Given the description of an element on the screen output the (x, y) to click on. 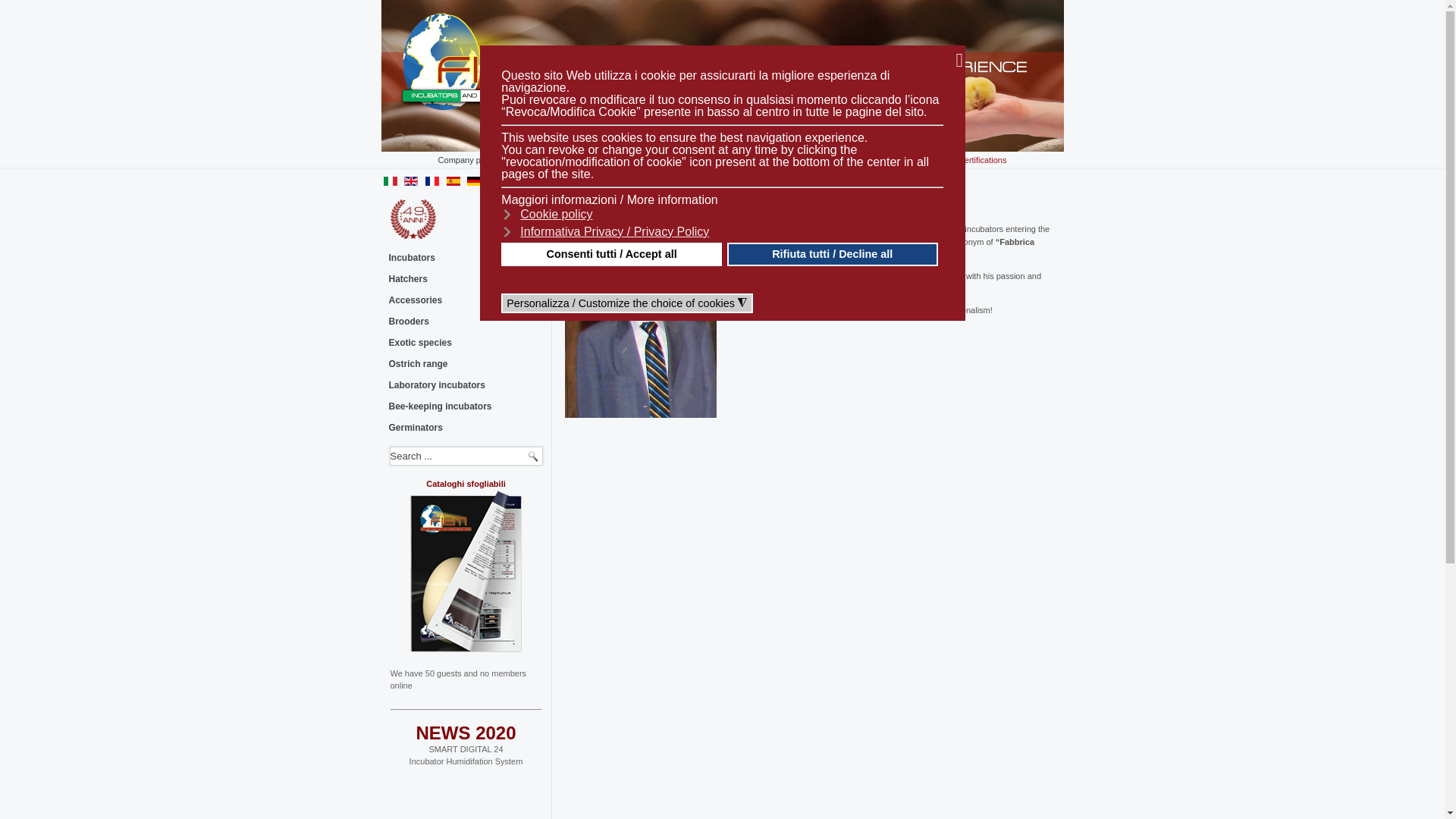
Exhibitions (723, 159)
Espagnol (453, 180)
About us (794, 159)
Contact us (553, 159)
How to reach us (637, 159)
francese (432, 180)
Company profile (468, 159)
Video (912, 159)
italian (390, 180)
Incubators (466, 257)
Search ... (465, 456)
German (473, 180)
Certifications (982, 159)
Cookie policy (547, 214)
News (856, 159)
